Given the description of an element on the screen output the (x, y) to click on. 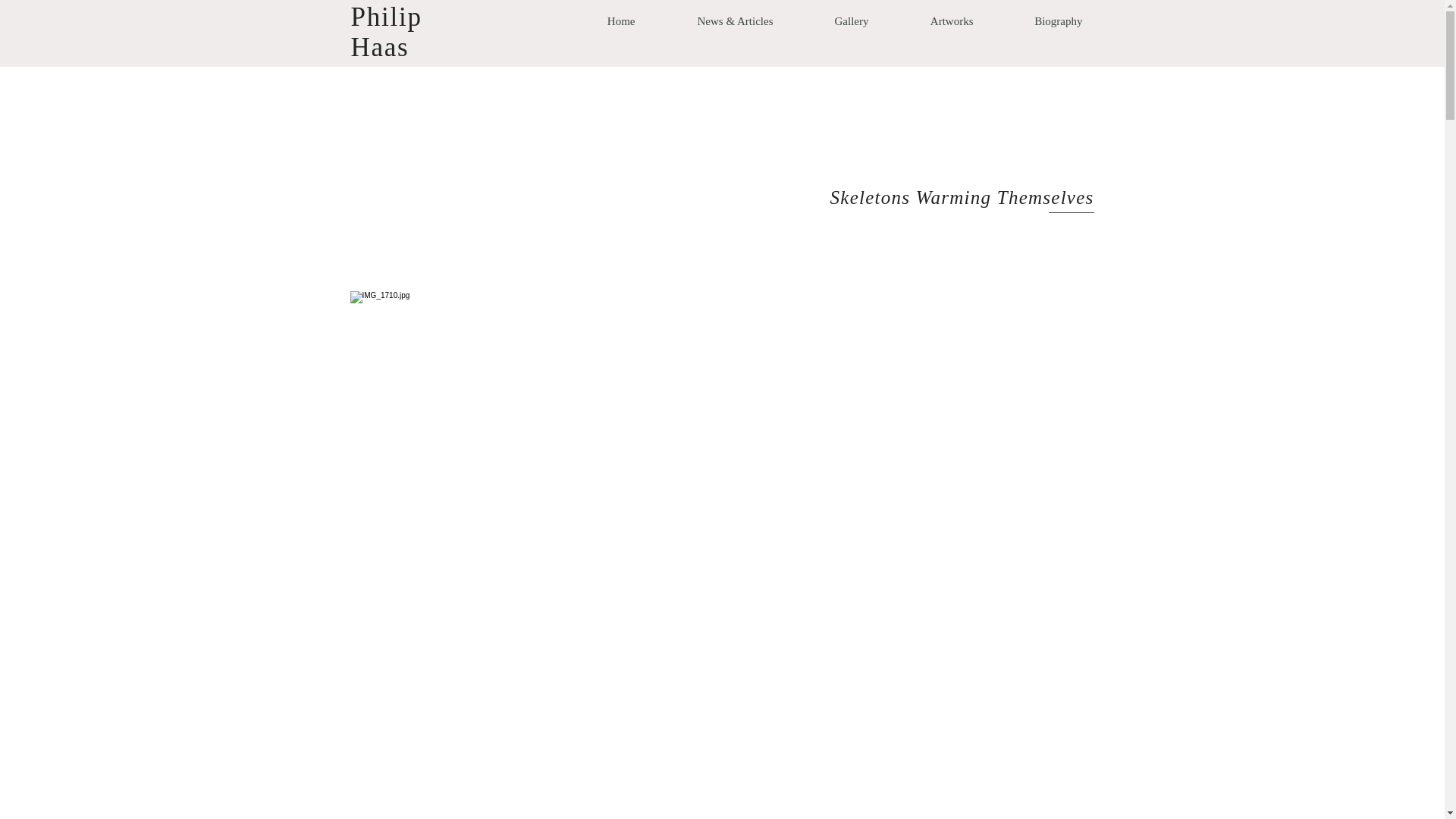
Biography (1038, 21)
Gallery (831, 21)
Artworks (931, 21)
Home (601, 21)
